Given the description of an element on the screen output the (x, y) to click on. 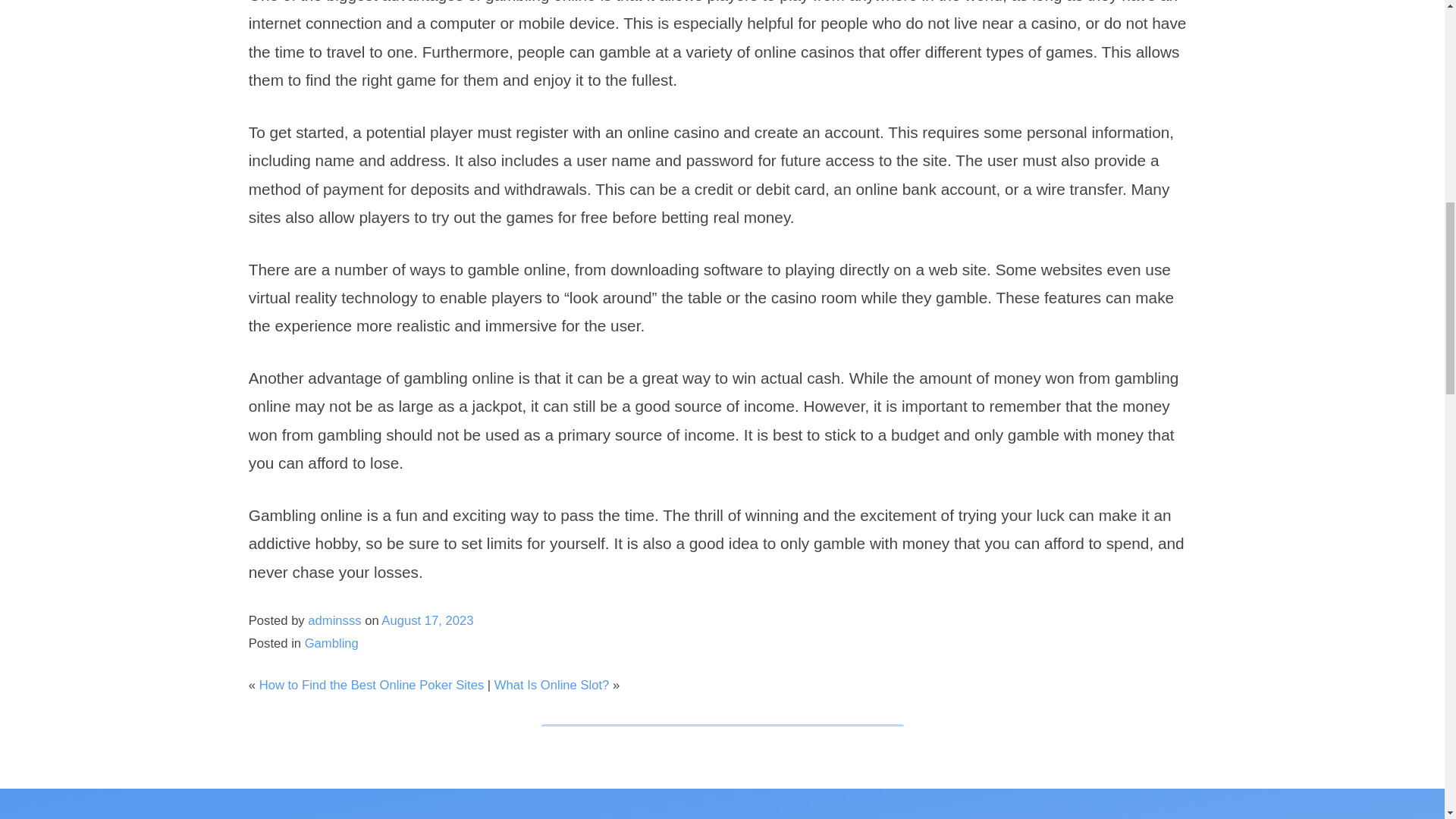
How to Find the Best Online Poker Sites (371, 685)
adminsss (334, 620)
August 17, 2023 (427, 620)
What Is Online Slot? (552, 685)
Gambling (331, 643)
